Given the description of an element on the screen output the (x, y) to click on. 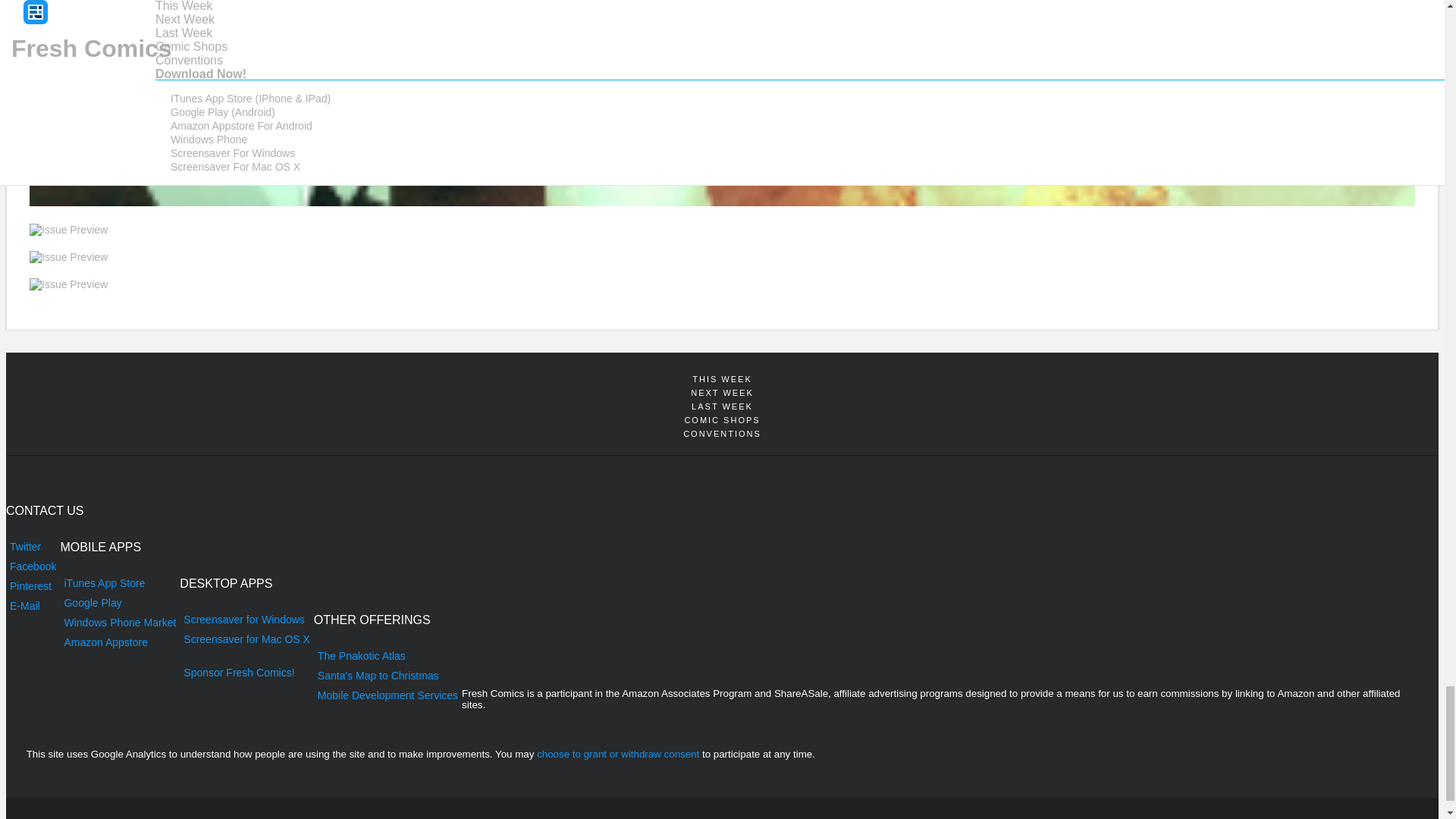
THIS WEEK (722, 378)
CONVENTIONS (721, 433)
Facebook (32, 566)
Pinterest (32, 586)
Sponsor Fresh Comics! (246, 672)
Amazon Appstore (119, 641)
LAST WEEK (722, 405)
iTunes App Store (119, 582)
COMIC SHOPS (722, 419)
Screensaver for Windows (246, 619)
E-Mail (32, 605)
Screensaver for Mac OS X (246, 639)
Windows Phone Market (119, 622)
NEXT WEEK (721, 392)
Google Play (119, 602)
